Given the description of an element on the screen output the (x, y) to click on. 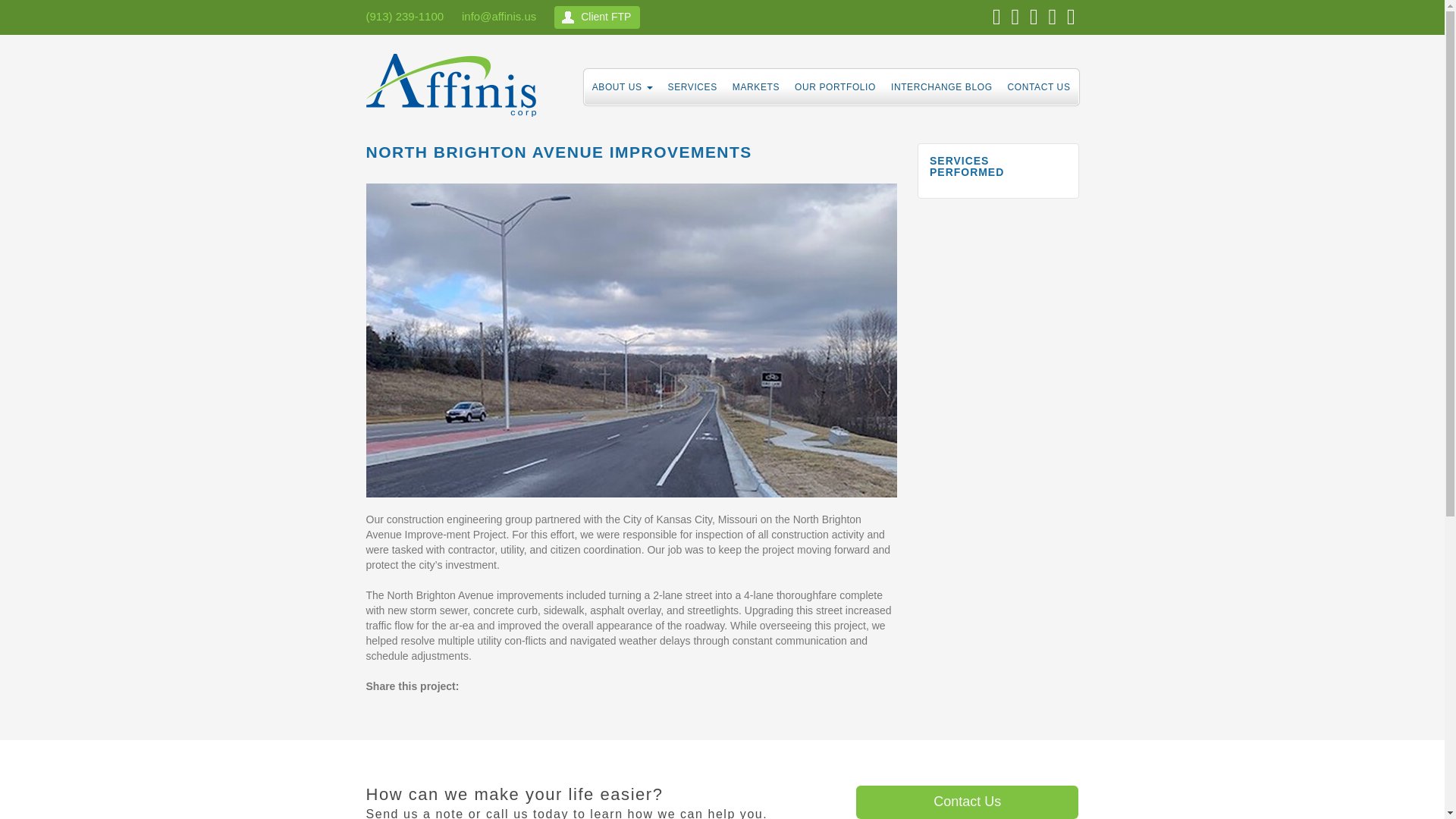
SERVICES (693, 86)
Markets (756, 86)
Our Portfolio (835, 86)
Contact Us (967, 802)
CONTACT US (1039, 86)
Interchange Blog (941, 86)
Client FTP (597, 16)
MARKETS (756, 86)
About Us (623, 86)
Contact Us (1039, 86)
ABOUT US (623, 86)
Services (693, 86)
OUR PORTFOLIO (835, 86)
INTERCHANGE BLOG (941, 86)
Affinis (456, 89)
